Given the description of an element on the screen output the (x, y) to click on. 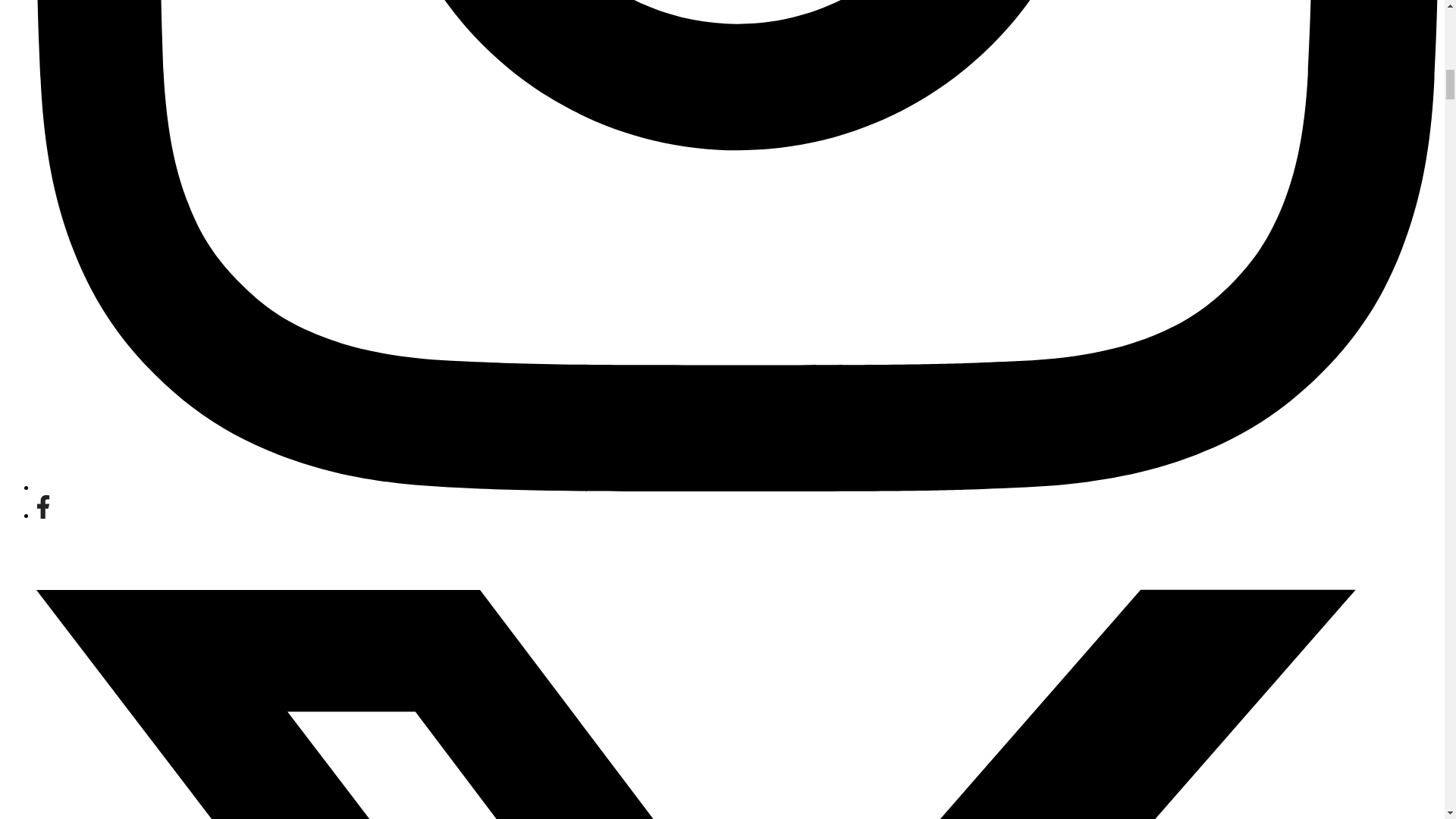
FaceBook (42, 514)
FaceBook (42, 506)
